Given the description of an element on the screen output the (x, y) to click on. 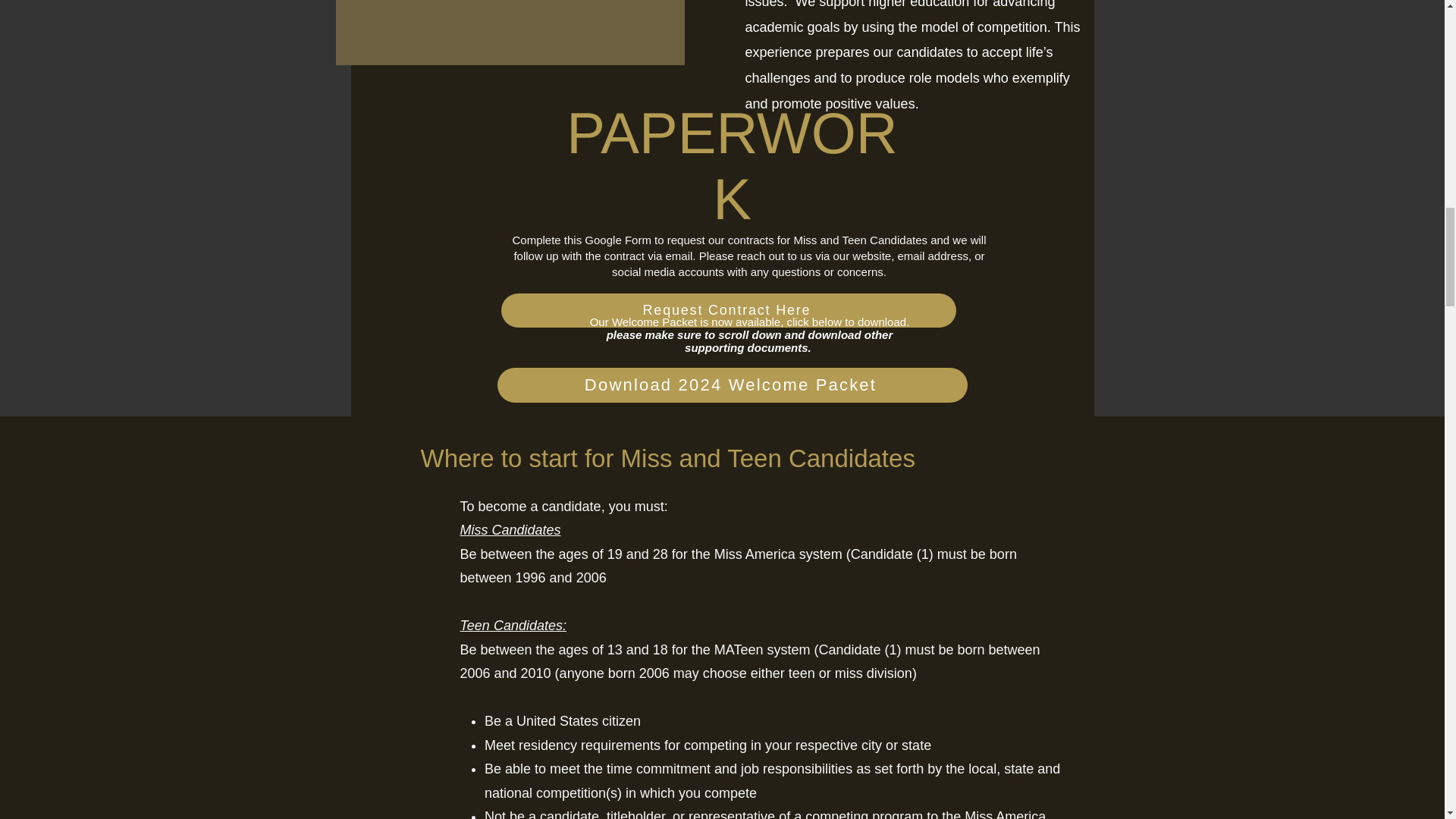
Request Contract Here (727, 310)
Download 2024 Welcome Packet (732, 384)
